Given the description of an element on the screen output the (x, y) to click on. 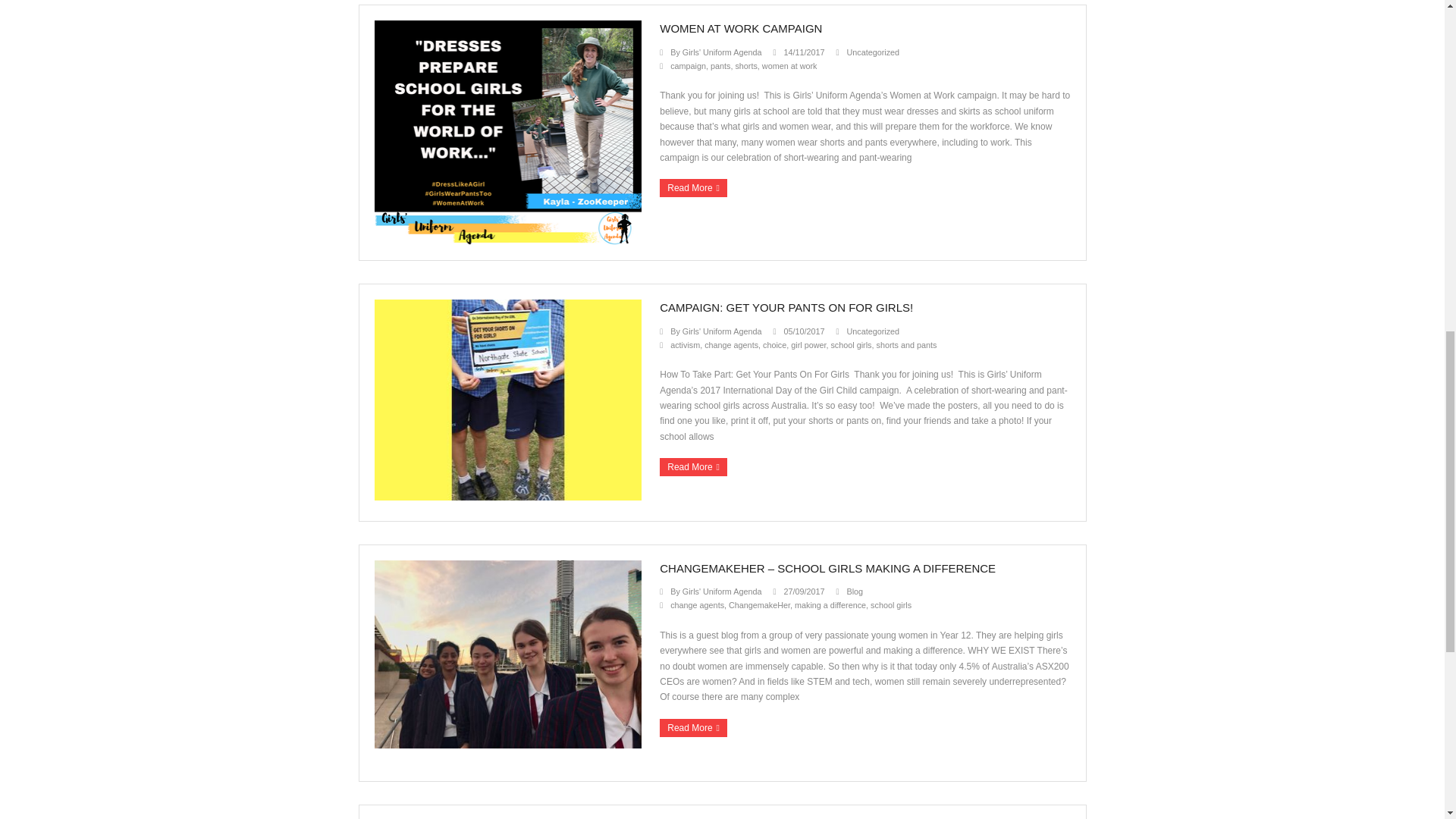
Campaign: Get Your Pants On For Girls! (803, 330)
Women at Work Campaign (803, 51)
Permalink to Campaign: Get Your Pants On For Girls! (785, 307)
View all posts by Girls' Uniform Agenda (721, 51)
Permalink to Women at Work Campaign (740, 28)
View all posts by Girls' Uniform Agenda (721, 330)
View all posts by Girls' Uniform Agenda (721, 591)
